Given the description of an element on the screen output the (x, y) to click on. 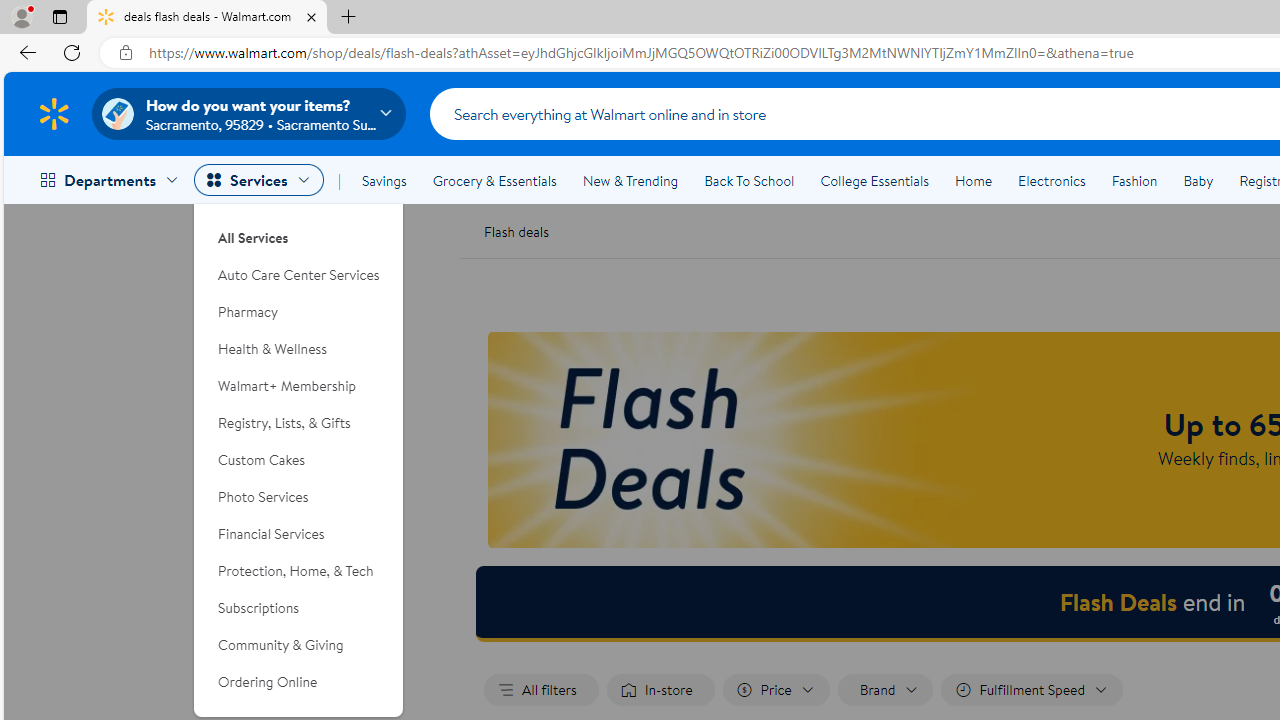
College Essentials (874, 180)
Auto Care Center Services (299, 275)
Ordering Online (299, 682)
